Given the description of an element on the screen output the (x, y) to click on. 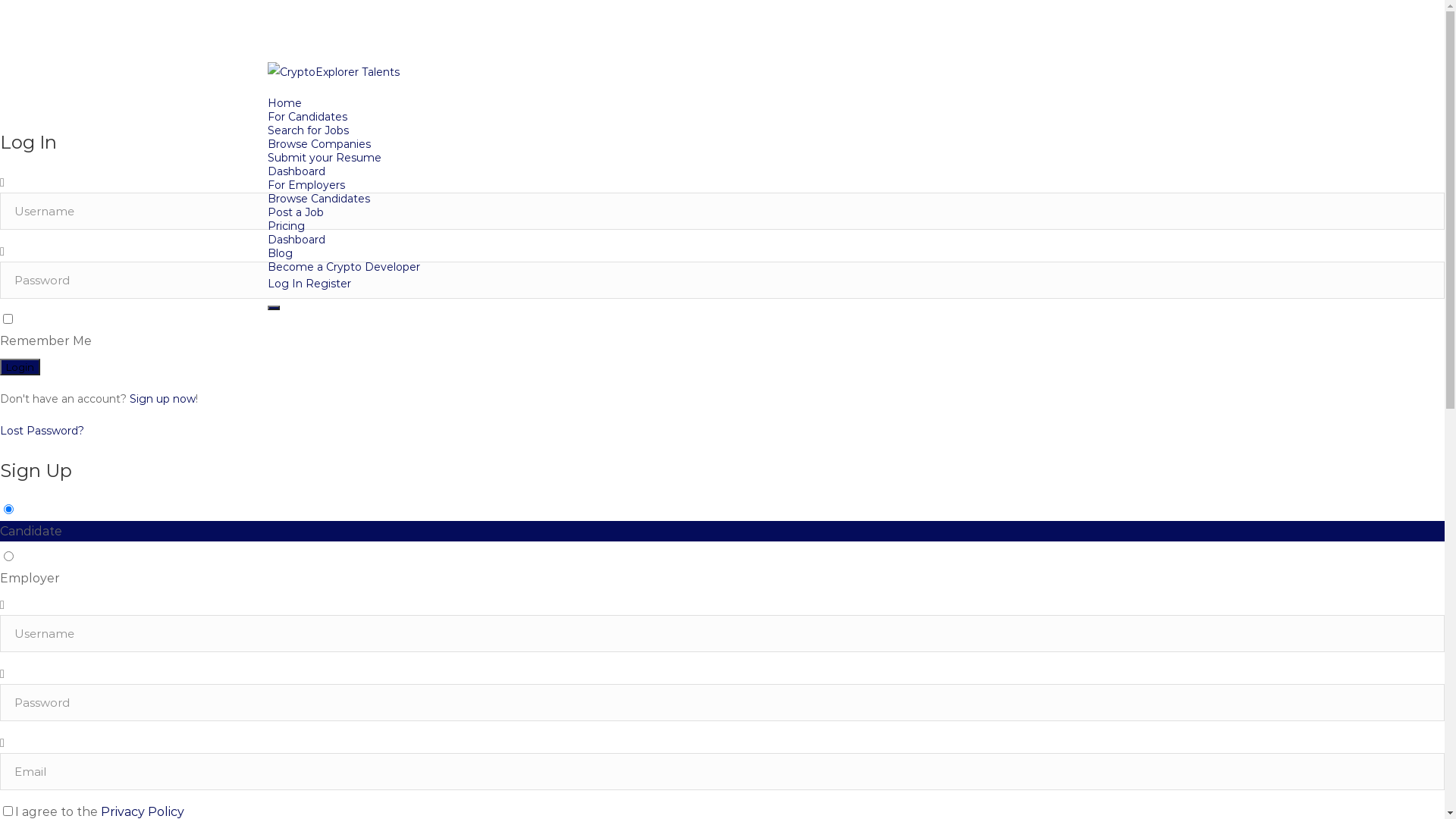
Pricing Element type: text (285, 225)
Sign up now Element type: text (162, 398)
For Candidates Element type: text (306, 116)
Blog Element type: text (278, 253)
Submit your Resume Element type: text (323, 157)
Log In Element type: text (283, 283)
Search for Jobs Element type: text (307, 130)
For Employers Element type: text (305, 184)
Browse Companies Element type: text (318, 143)
Register Element type: text (327, 283)
Become a Crypto Developer Element type: text (342, 266)
Dashboard Element type: text (295, 171)
Home Element type: text (283, 102)
CryptoExplorer Talents Element type: hover (721, 79)
Dashboard Element type: text (295, 239)
Browse Candidates Element type: text (317, 198)
Lost Password? Element type: text (42, 430)
Login Element type: text (20, 366)
Post a Job Element type: text (294, 212)
